Given the description of an element on the screen output the (x, y) to click on. 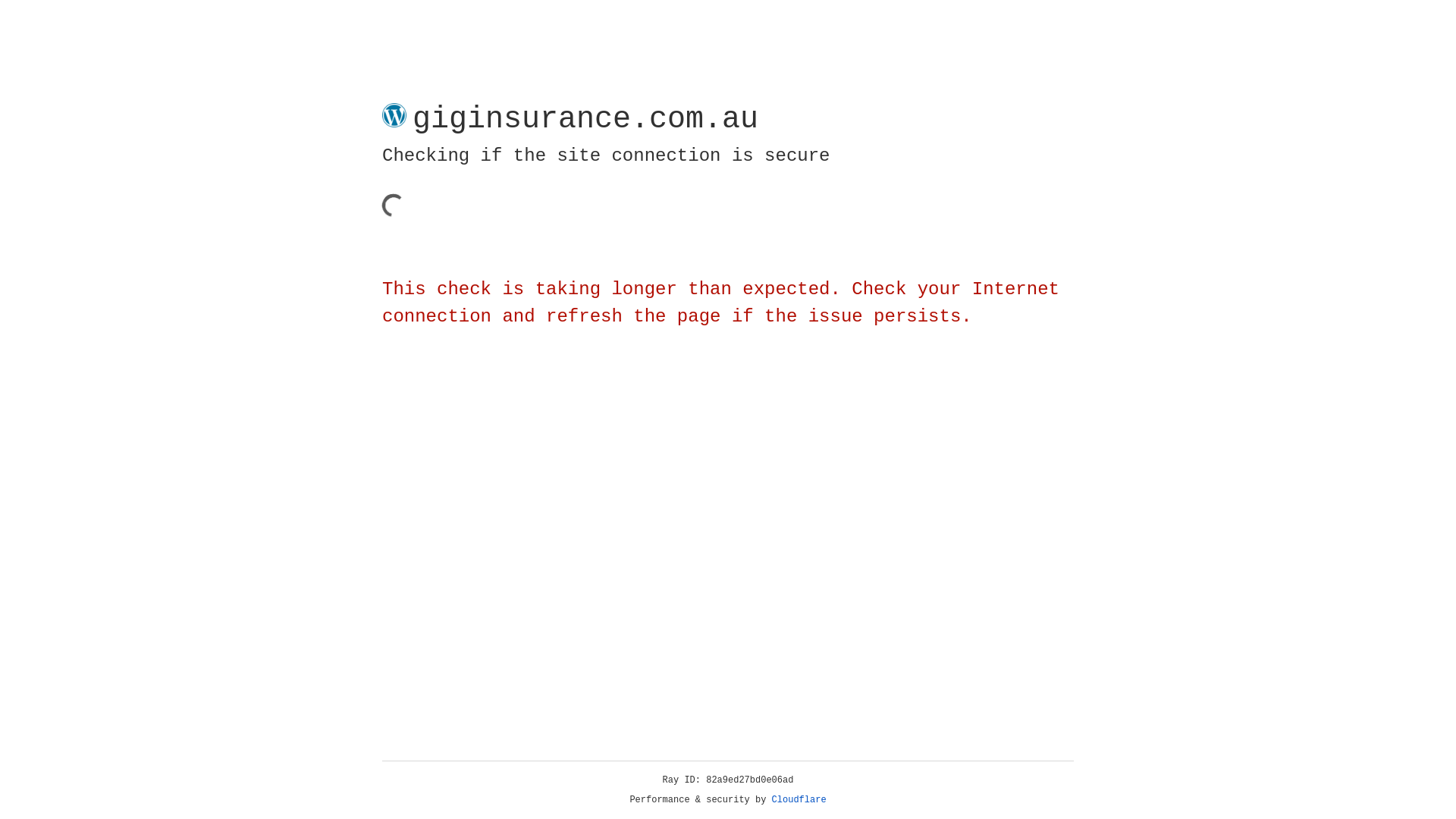
Cloudflare Element type: text (798, 799)
